Given the description of an element on the screen output the (x, y) to click on. 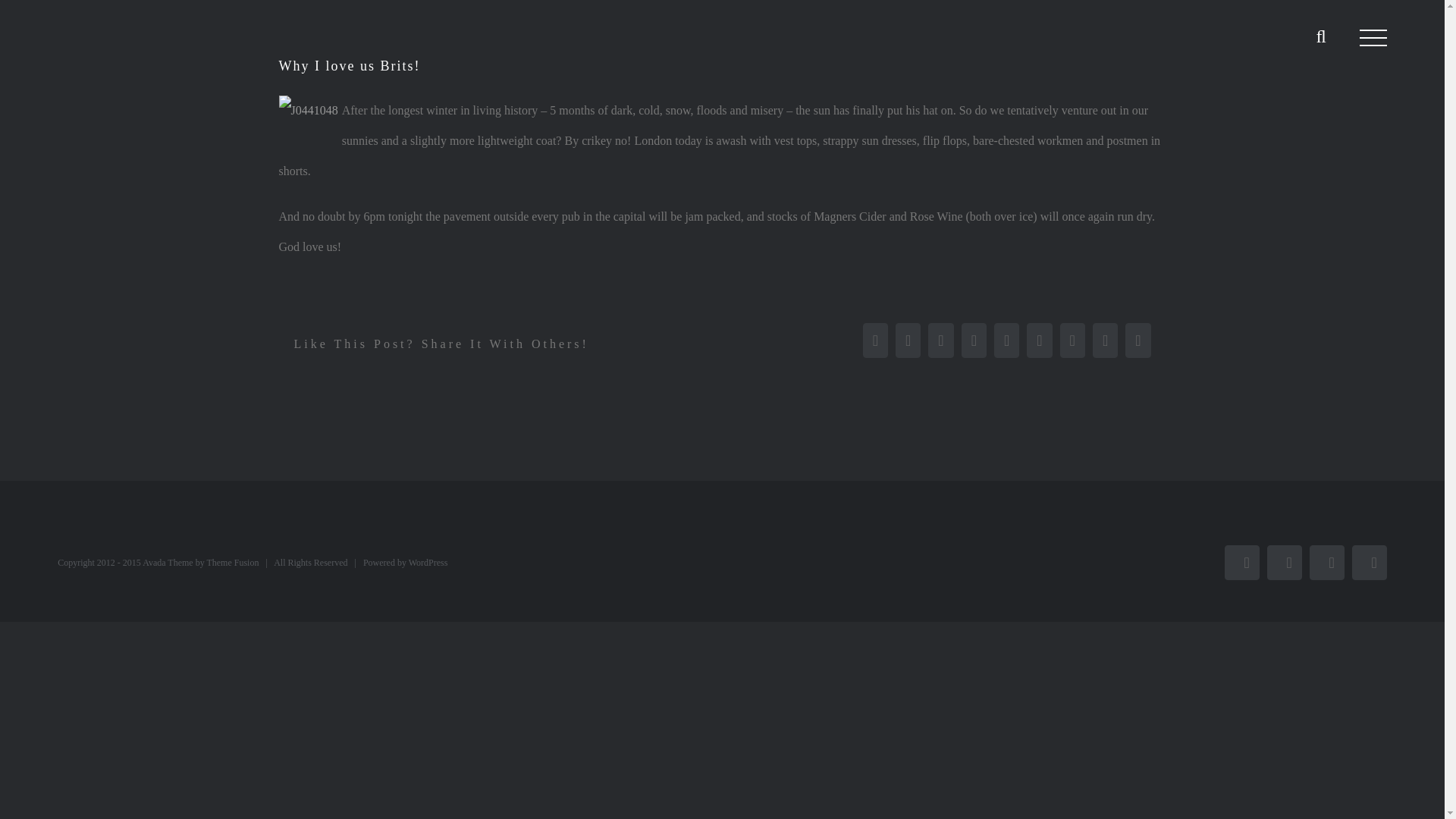
Facebook (1241, 562)
Instagram (1325, 562)
Twitter (1283, 562)
WordPress (428, 562)
Instagram (1325, 562)
Twitter (1283, 562)
Theme Fusion (232, 562)
Facebook (1241, 562)
J0441048 (308, 110)
